Given the description of an element on the screen output the (x, y) to click on. 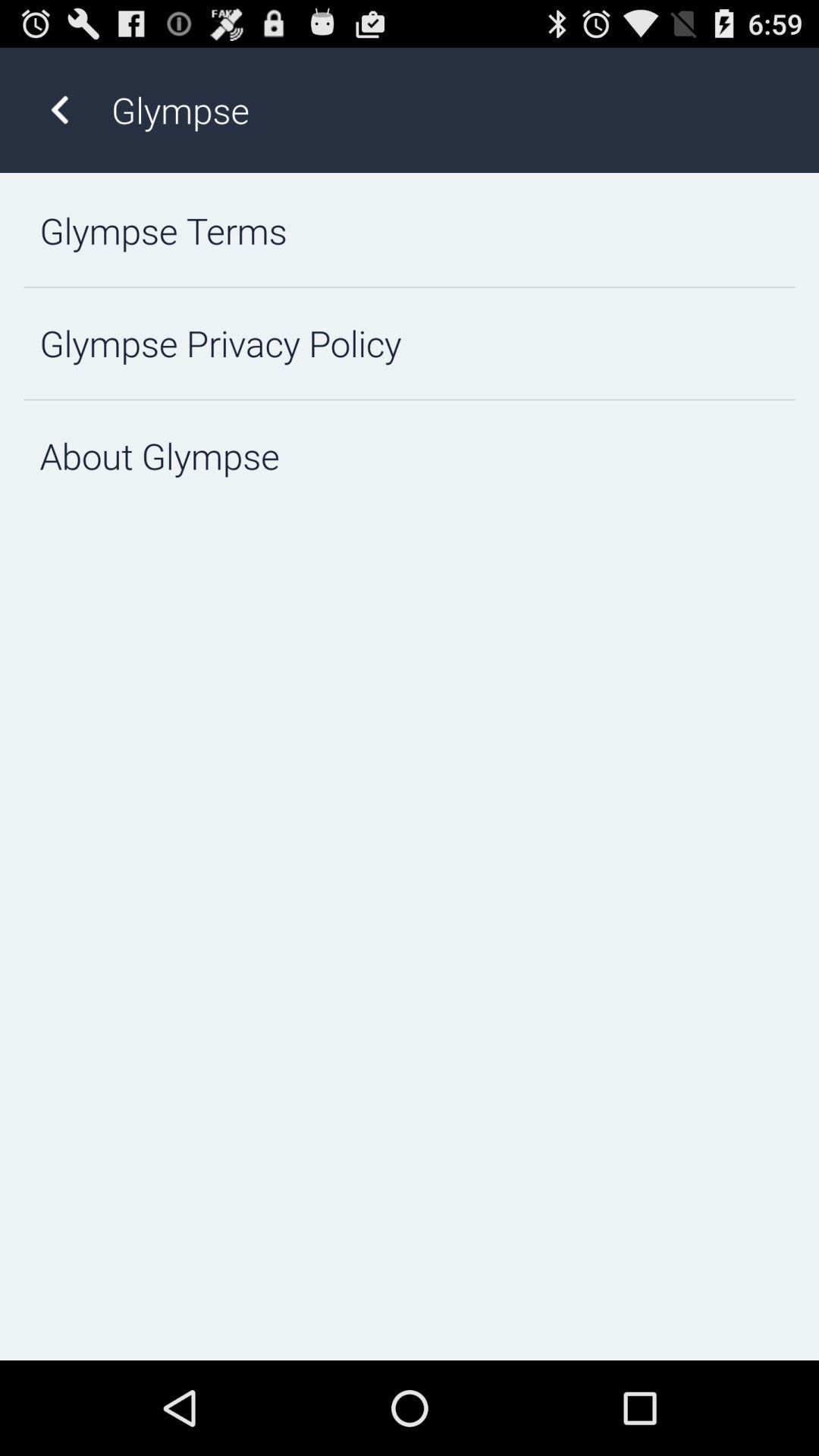
turn on the glympse terms item (409, 230)
